Given the description of an element on the screen output the (x, y) to click on. 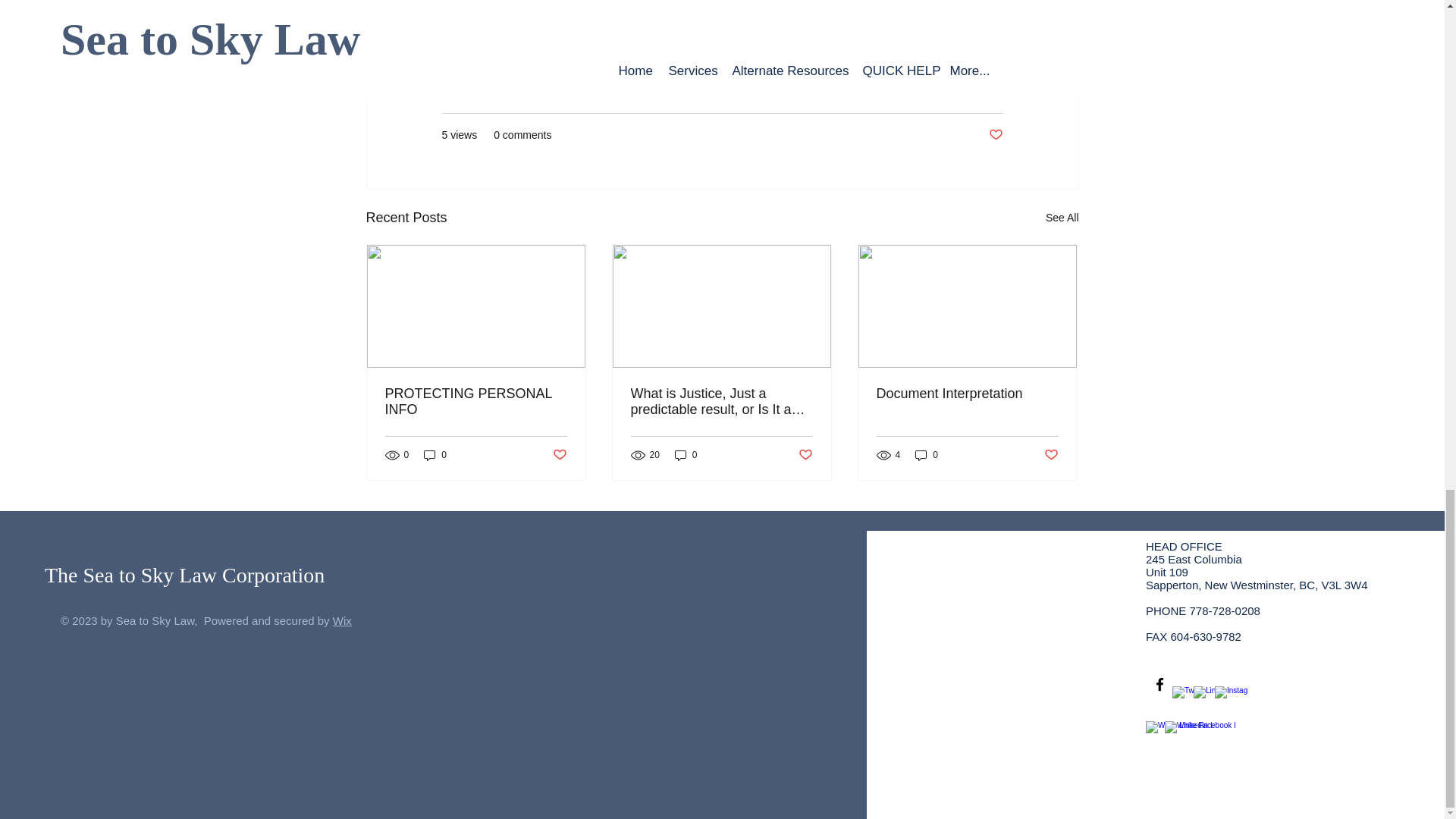
See All (1061, 218)
Post not marked as liked (558, 455)
Facts about the law (957, 90)
0 (435, 454)
Wix (342, 620)
The Sea to Sky Law Corporation (184, 575)
Document Interpretation (967, 393)
Post not marked as liked (804, 455)
Post not marked as liked (995, 135)
0 (926, 454)
Post not marked as liked (1050, 455)
0 (685, 454)
PROTECTING PERSONAL INFO (476, 401)
